Given the description of an element on the screen output the (x, y) to click on. 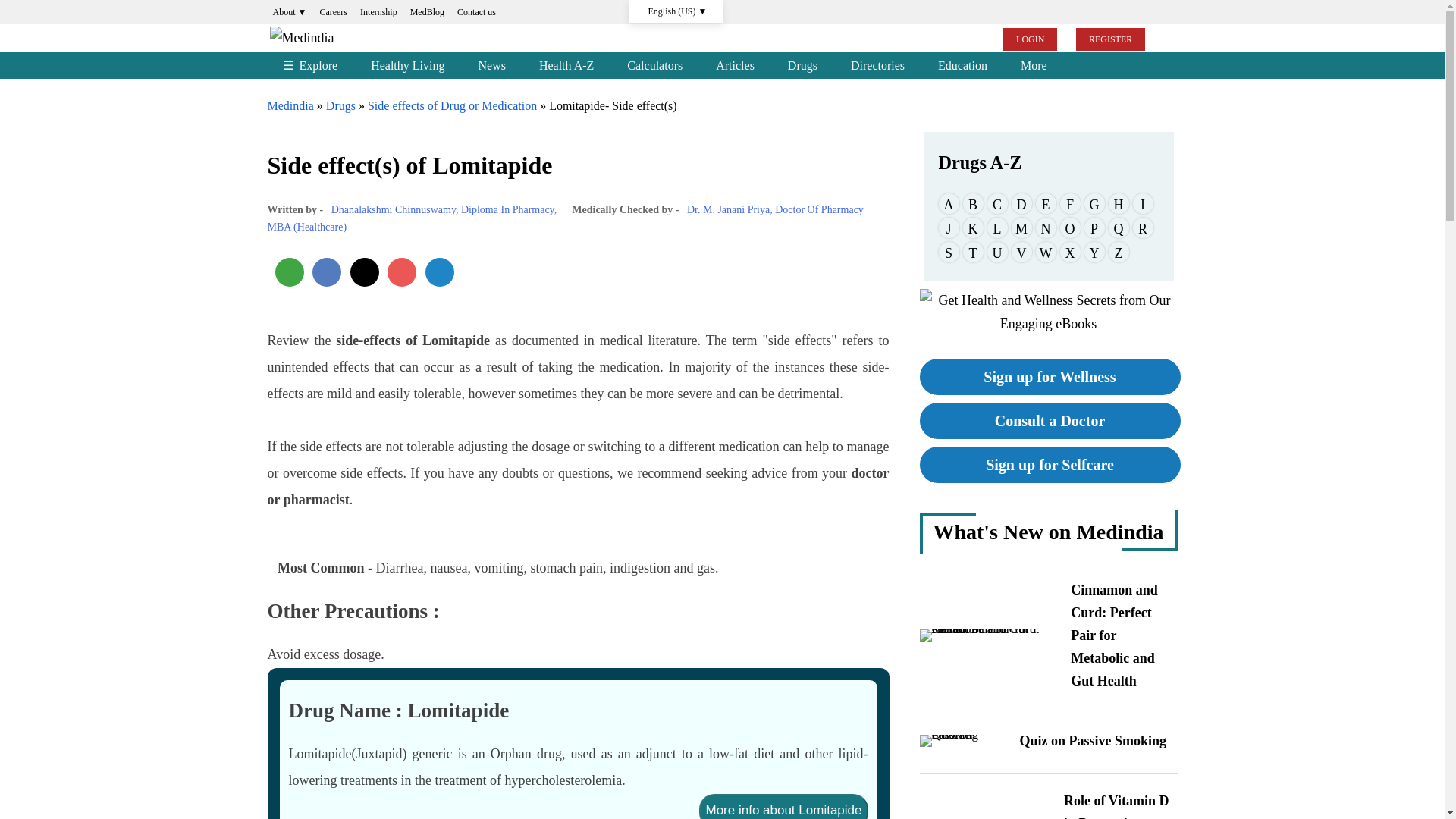
Twitter (364, 271)
LOGIN (1030, 38)
G (1094, 203)
I (1142, 203)
Articles (735, 65)
F (1069, 203)
Education (963, 65)
Drugs (802, 65)
Whatsapp (288, 271)
Linkedin (438, 271)
